Given the description of an element on the screen output the (x, y) to click on. 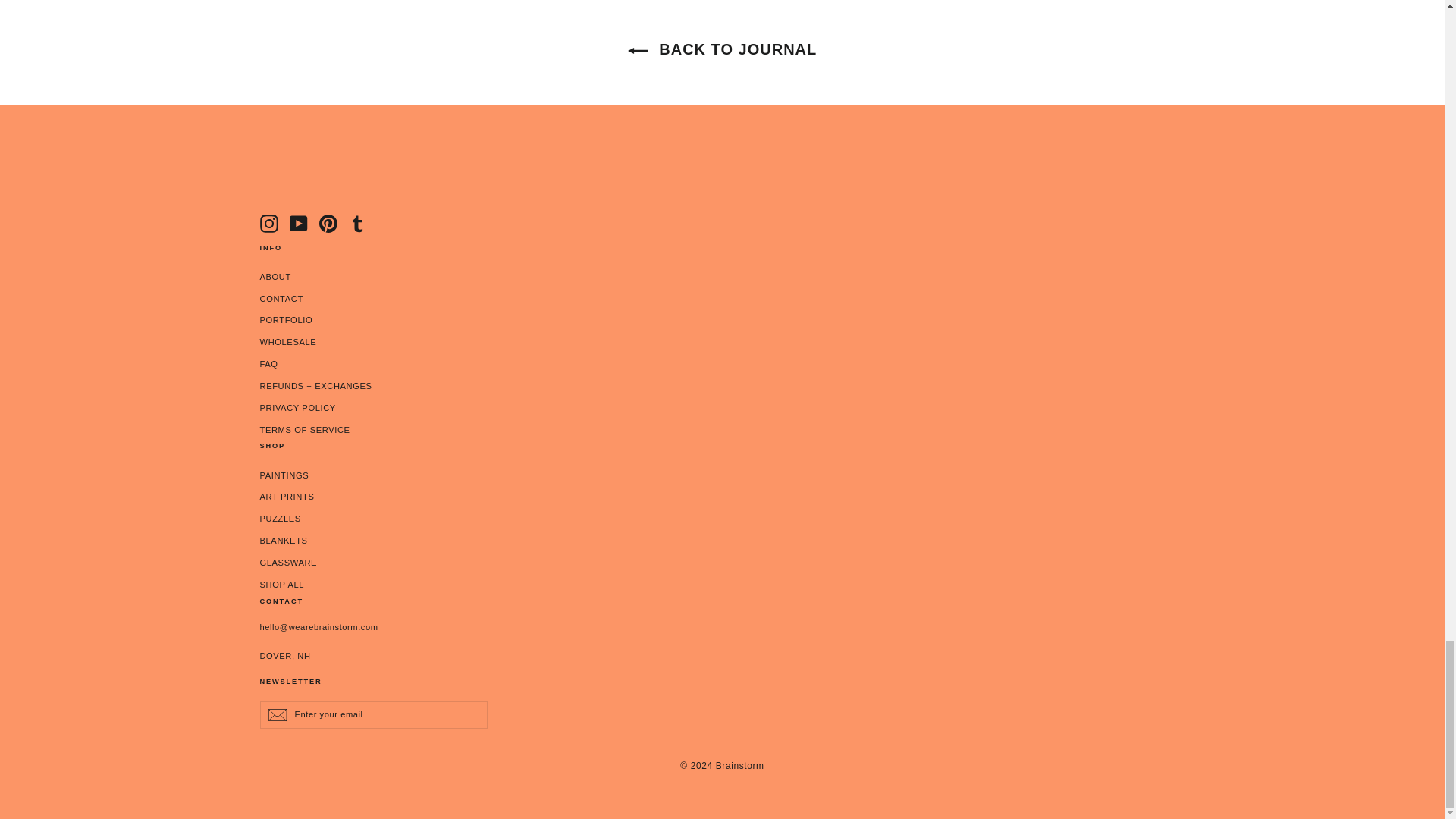
CONTACT (722, 299)
PORTFOLIO (722, 320)
Brainstorm on Tumblr (357, 223)
Brainstorm on YouTube (298, 223)
icon-email (276, 714)
Pinterest (327, 223)
YouTube (298, 223)
ICON-LEFT-ARROW (268, 223)
